Given the description of an element on the screen output the (x, y) to click on. 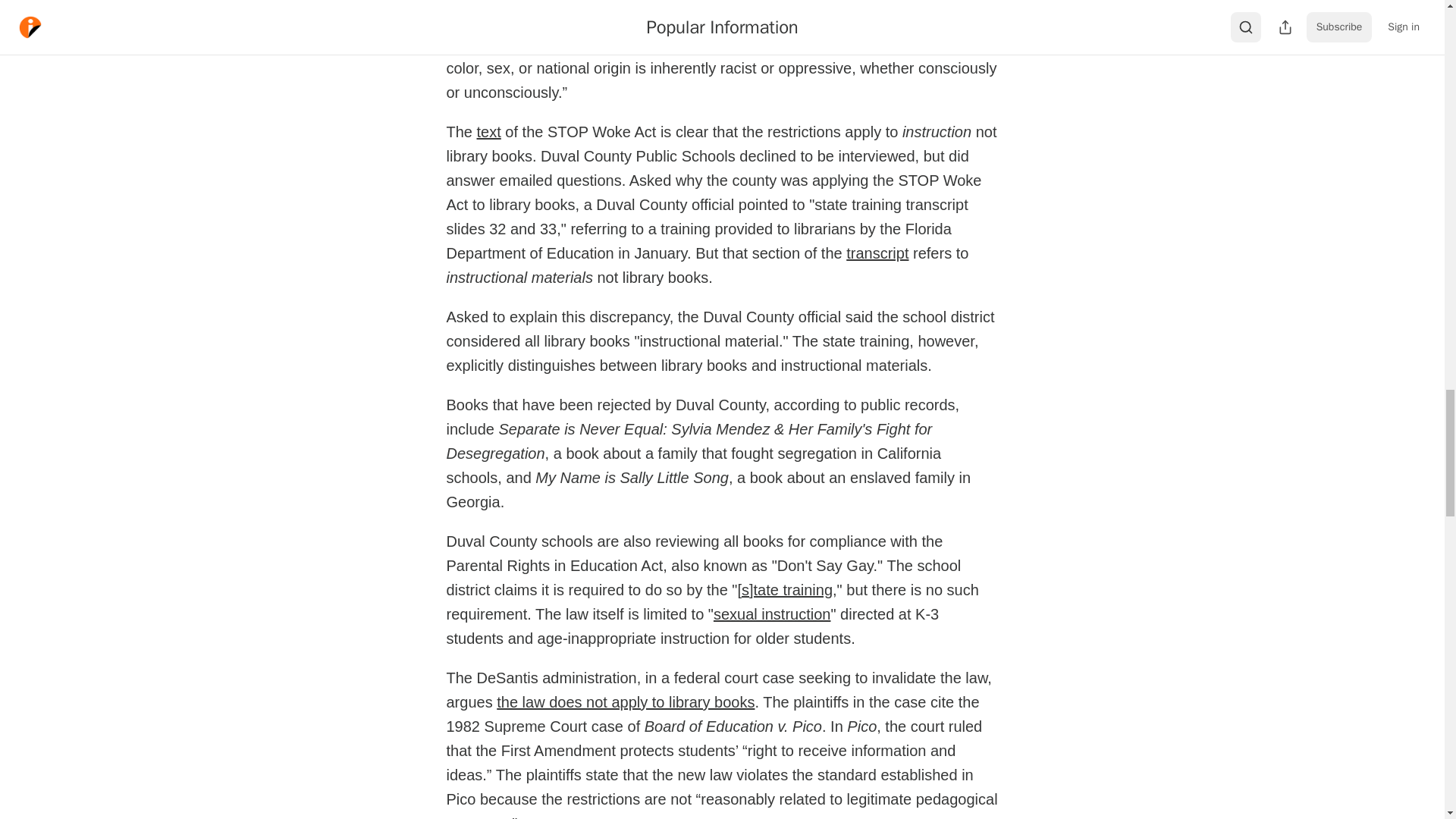
text (488, 131)
sexual instruction (772, 614)
the law does not apply to library books (625, 701)
transcript (876, 252)
January 23 posting (540, 2)
